Given the description of an element on the screen output the (x, y) to click on. 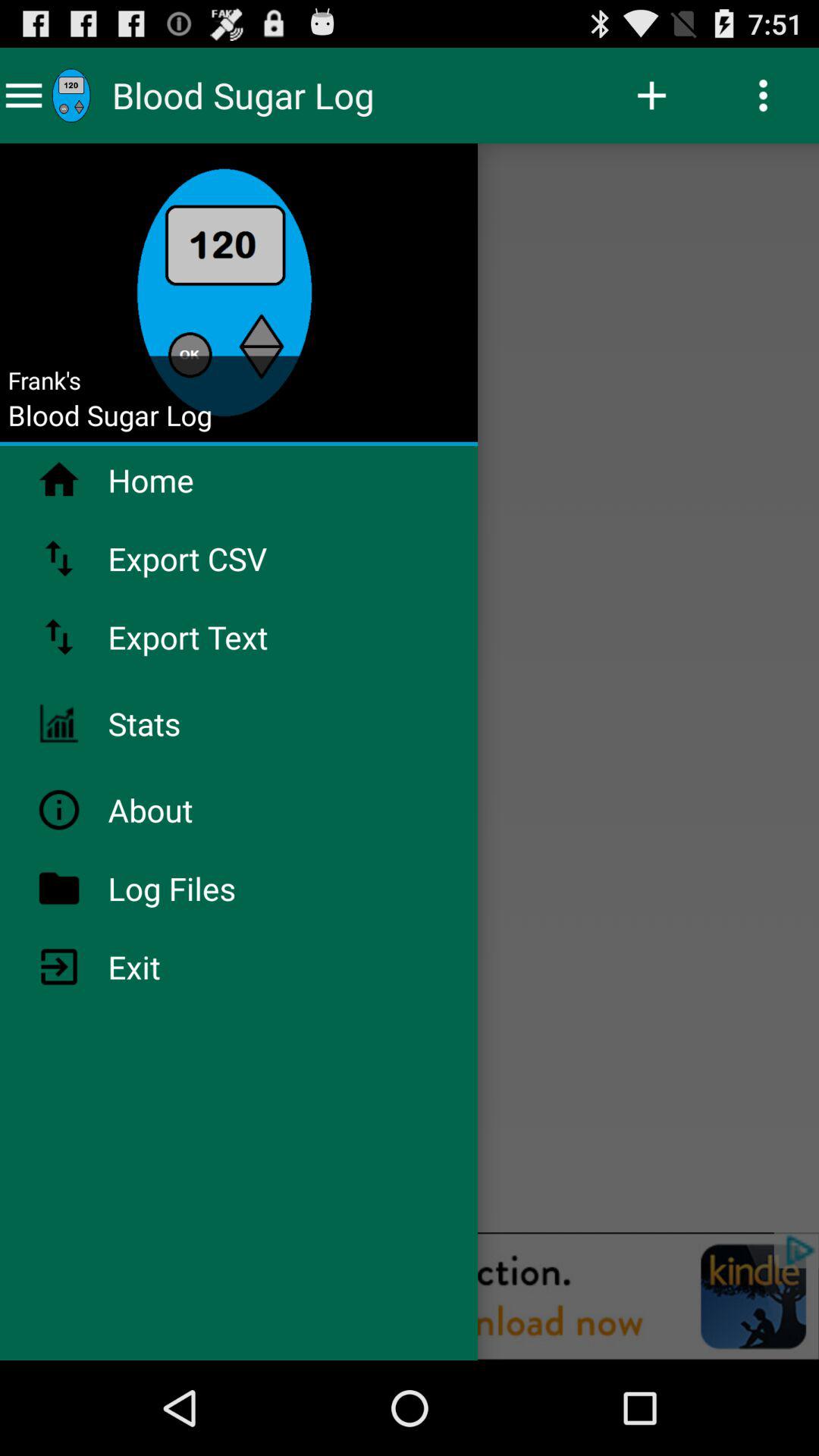
turn off icon below the about (211, 888)
